Given the description of an element on the screen output the (x, y) to click on. 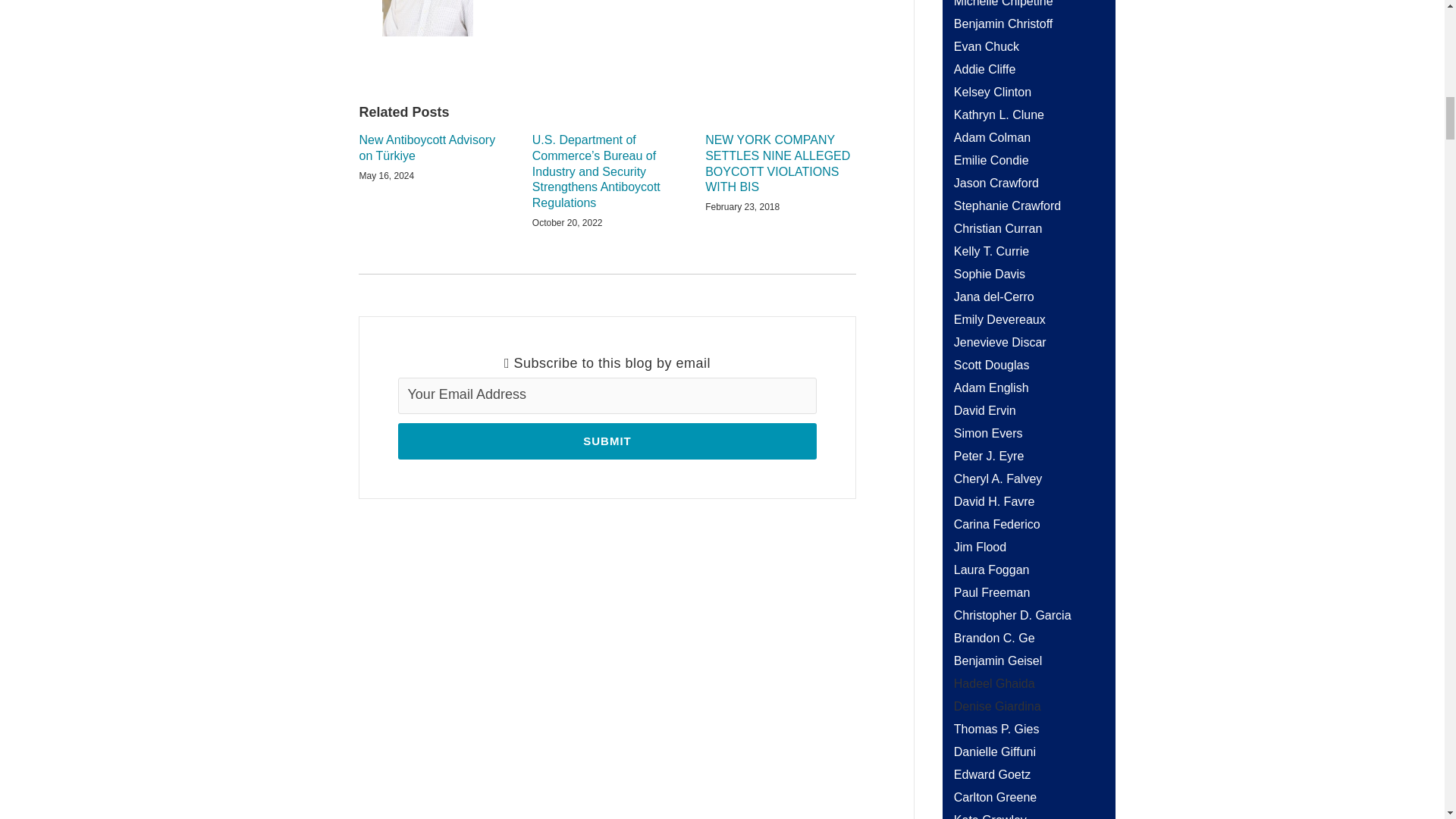
Submit (606, 441)
Submit (606, 441)
